Given the description of an element on the screen output the (x, y) to click on. 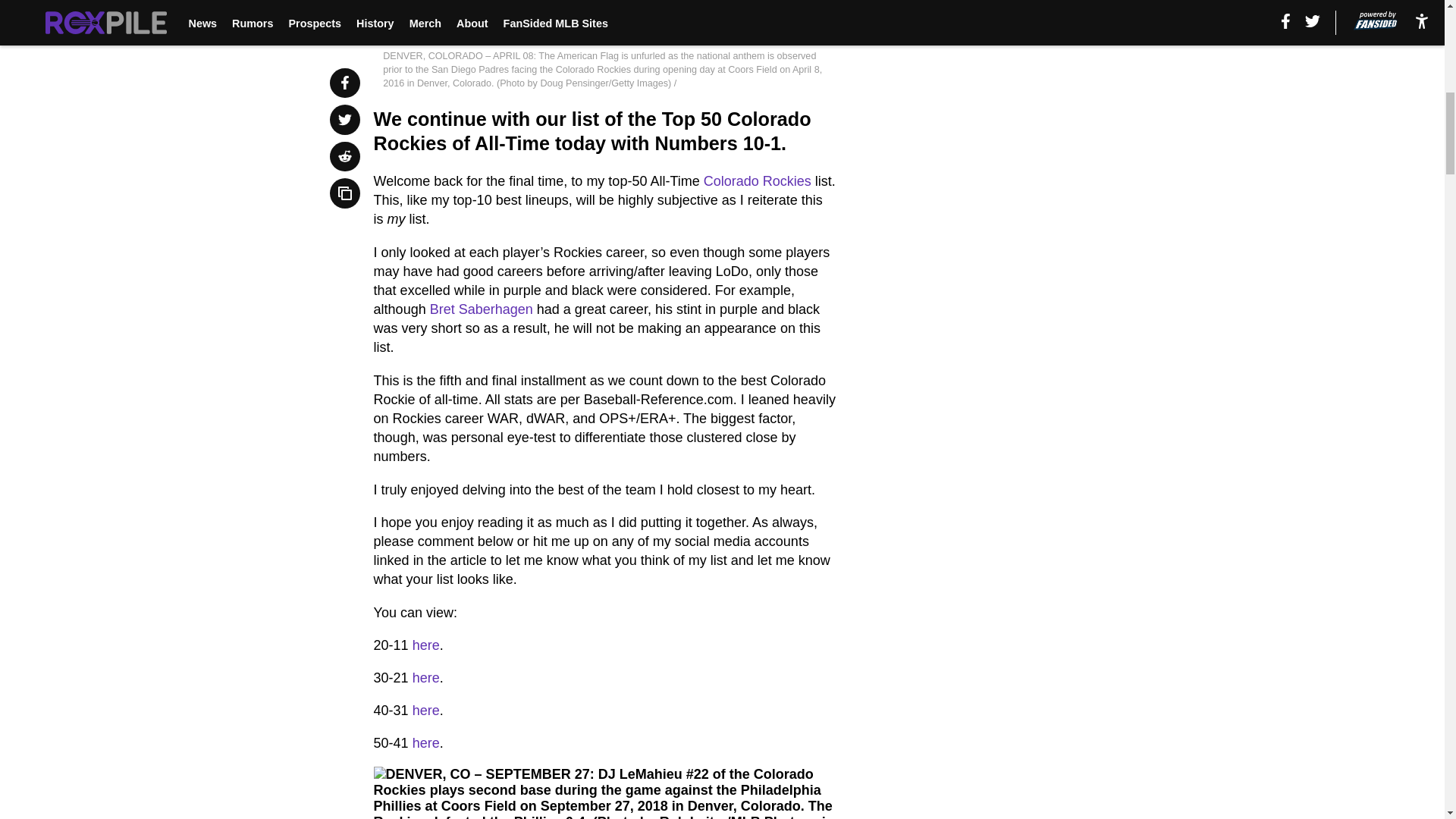
Bret Saberhagen (480, 309)
here (425, 710)
here (425, 677)
Colorado Rockies (756, 181)
here (425, 645)
here (425, 743)
